Given the description of an element on the screen output the (x, y) to click on. 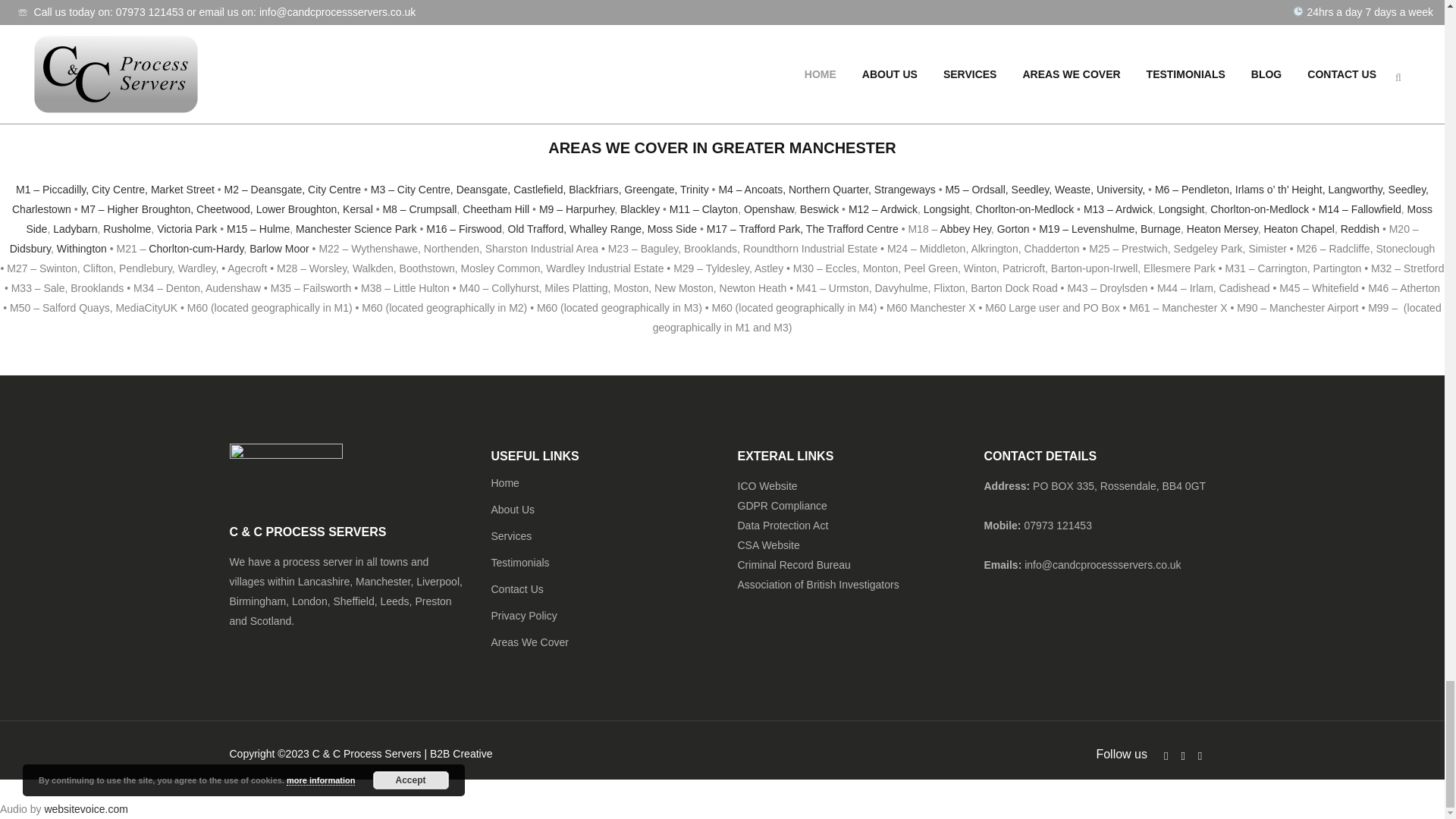
WebsiteVoice (85, 808)
